Given the description of an element on the screen output the (x, y) to click on. 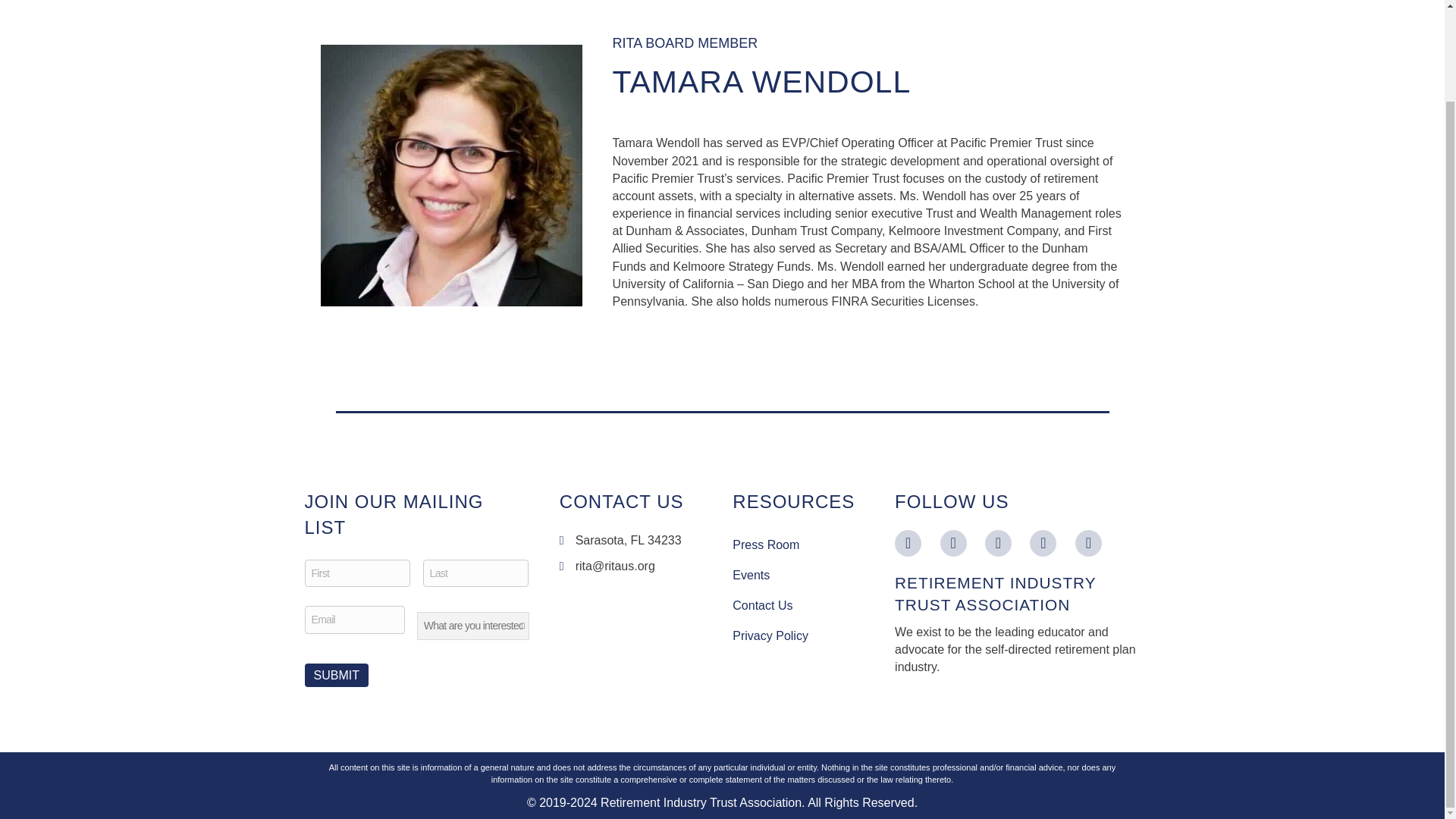
Press Room (798, 544)
SUBMIT (336, 675)
Privacy Policy (798, 635)
tamara-wendoll (450, 175)
Events (798, 574)
Contact Us (798, 604)
SUBMIT (336, 675)
